Given the description of an element on the screen output the (x, y) to click on. 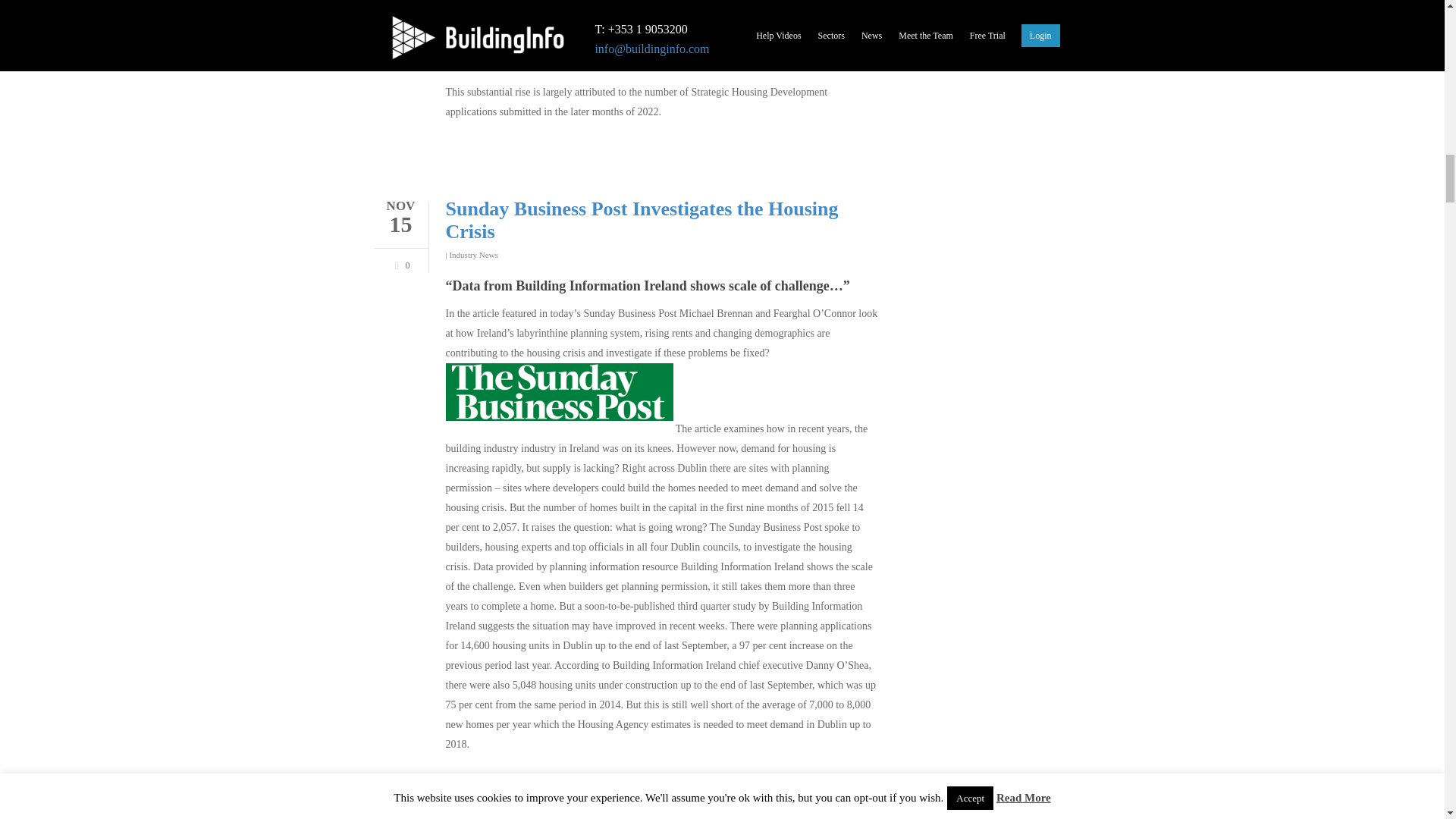
Industry News (472, 254)
Sunday Business Post Investigates the Housing Crisis (641, 220)
0 (399, 263)
Love this (399, 263)
